Given the description of an element on the screen output the (x, y) to click on. 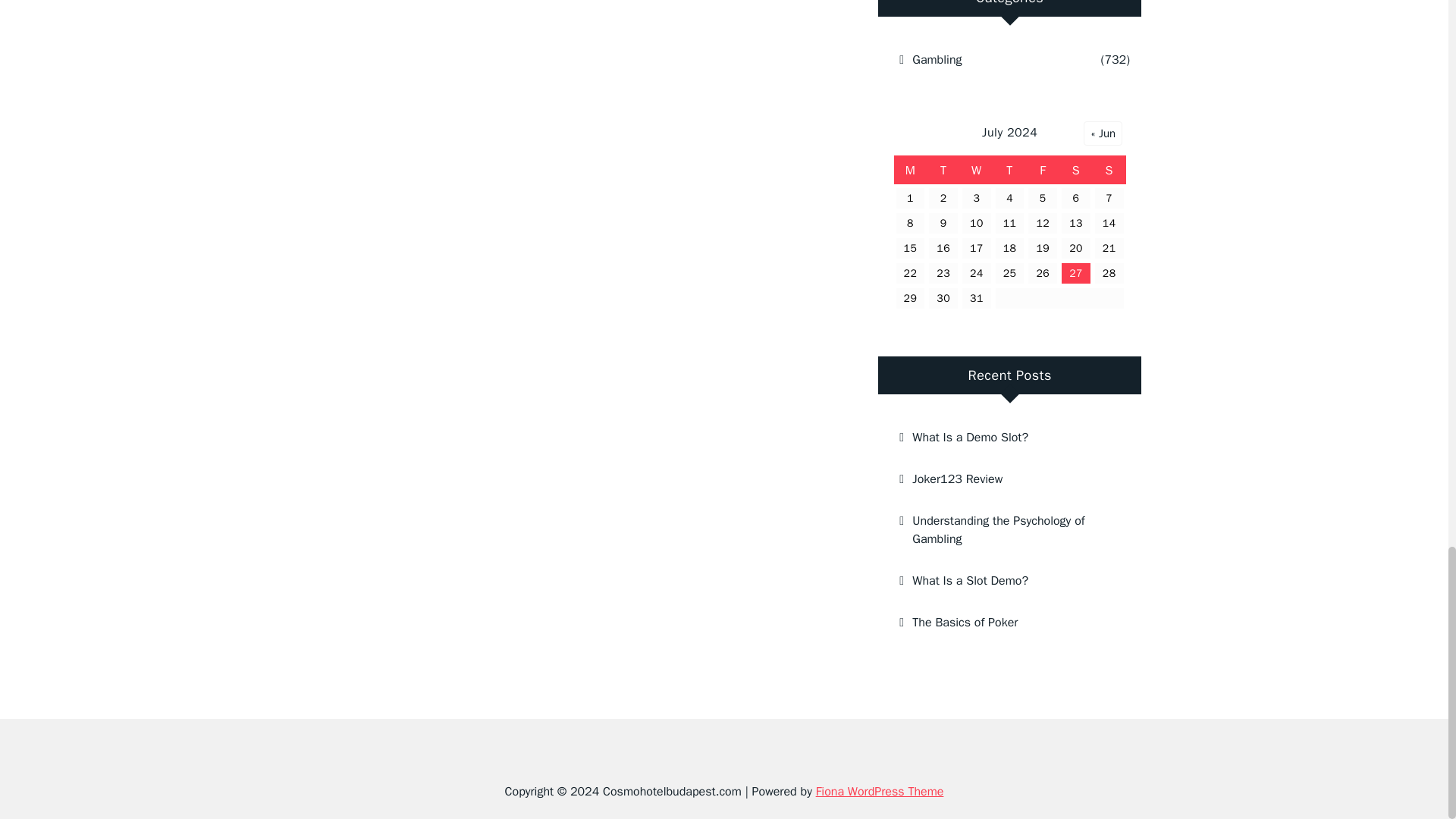
Friday (1042, 170)
Wednesday (975, 170)
Thursday (1009, 170)
Saturday (1076, 170)
Tuesday (942, 170)
Monday (910, 170)
Sunday (1109, 170)
